Given the description of an element on the screen output the (x, y) to click on. 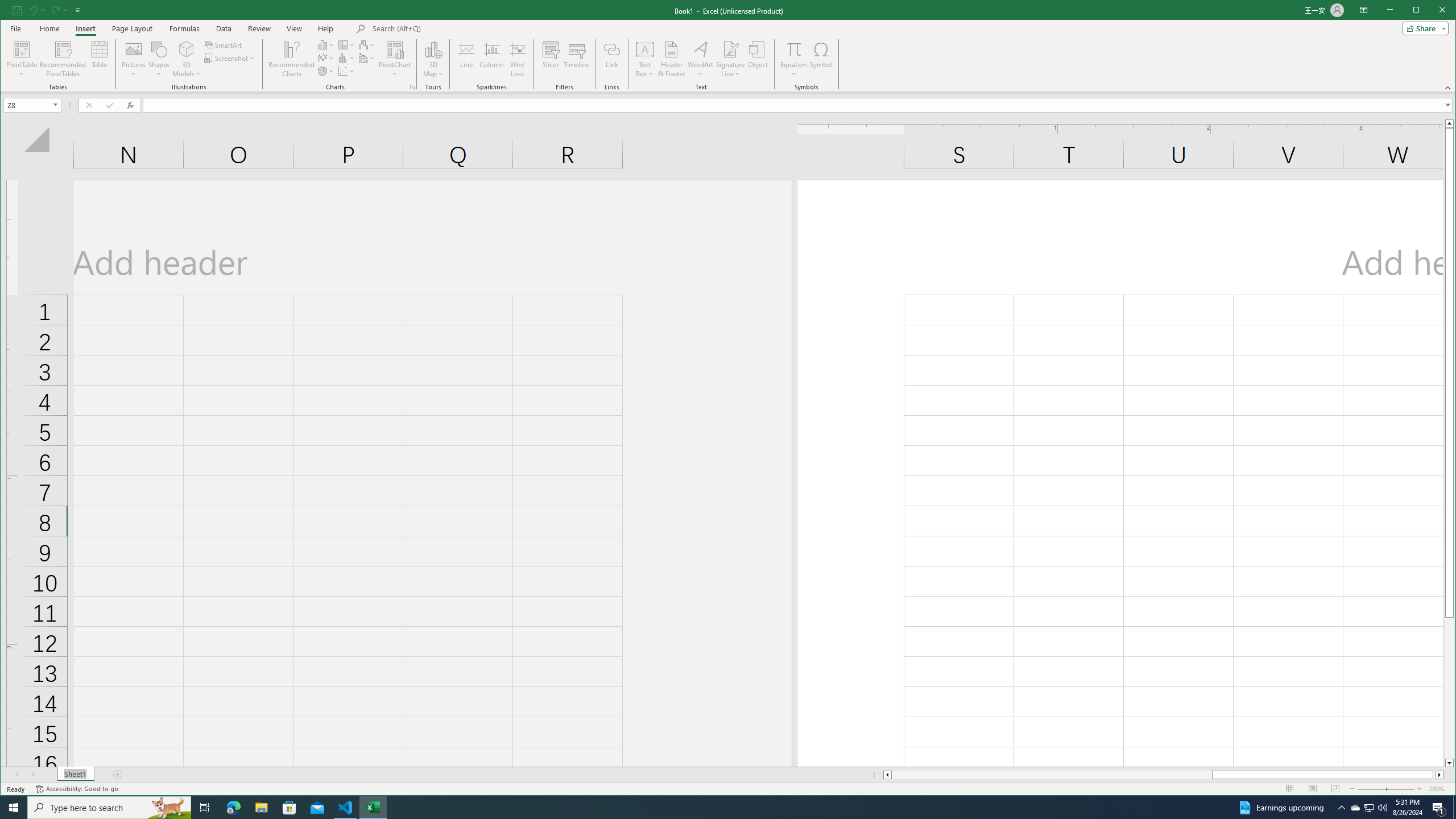
Formula Bar (799, 104)
Insert Waterfall, Funnel, Stock, Surface, or Radar Chart (366, 44)
Win/Loss (517, 59)
Page down (1449, 687)
Slicer... (550, 59)
Insert Combo Chart (366, 57)
Microsoft Store (289, 807)
Signature Line (729, 48)
PivotChart (394, 48)
Class: MsoCommandBar (728, 45)
WordArt (699, 59)
File Explorer (261, 807)
